Given the description of an element on the screen output the (x, y) to click on. 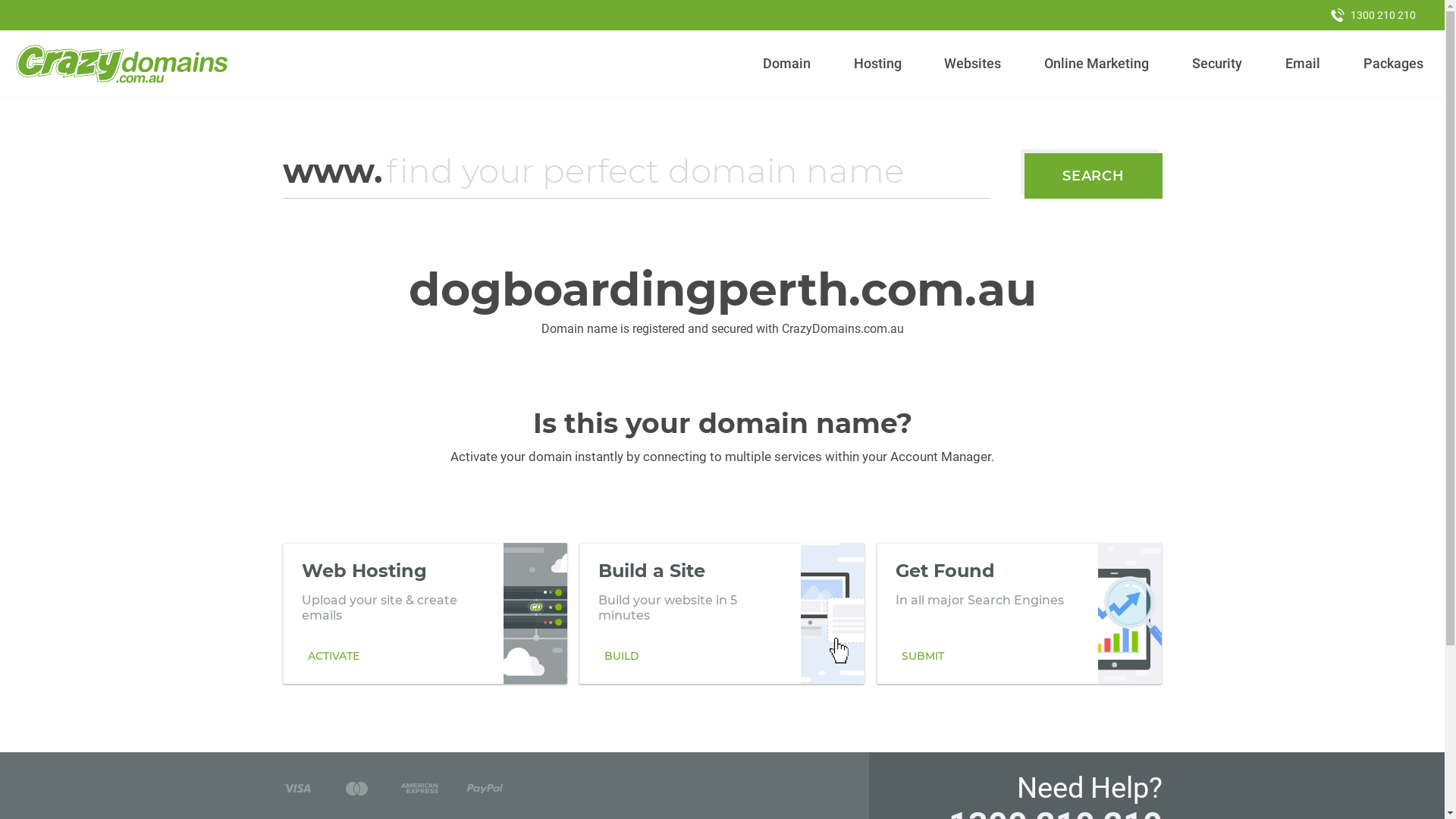
Websites Element type: text (972, 63)
Security Element type: text (1217, 63)
Domain Element type: text (786, 63)
Online Marketing Element type: text (1096, 63)
Get Found
In all major Search Engines
SUBMIT Element type: text (1018, 613)
1300 210 210 Element type: text (1373, 15)
Hosting Element type: text (877, 63)
SEARCH Element type: text (1092, 175)
Packages Element type: text (1392, 63)
Email Element type: text (1302, 63)
Web Hosting
Upload your site & create emails
ACTIVATE Element type: text (424, 613)
Build a Site
Build your website in 5 minutes
BUILD Element type: text (721, 613)
